Given the description of an element on the screen output the (x, y) to click on. 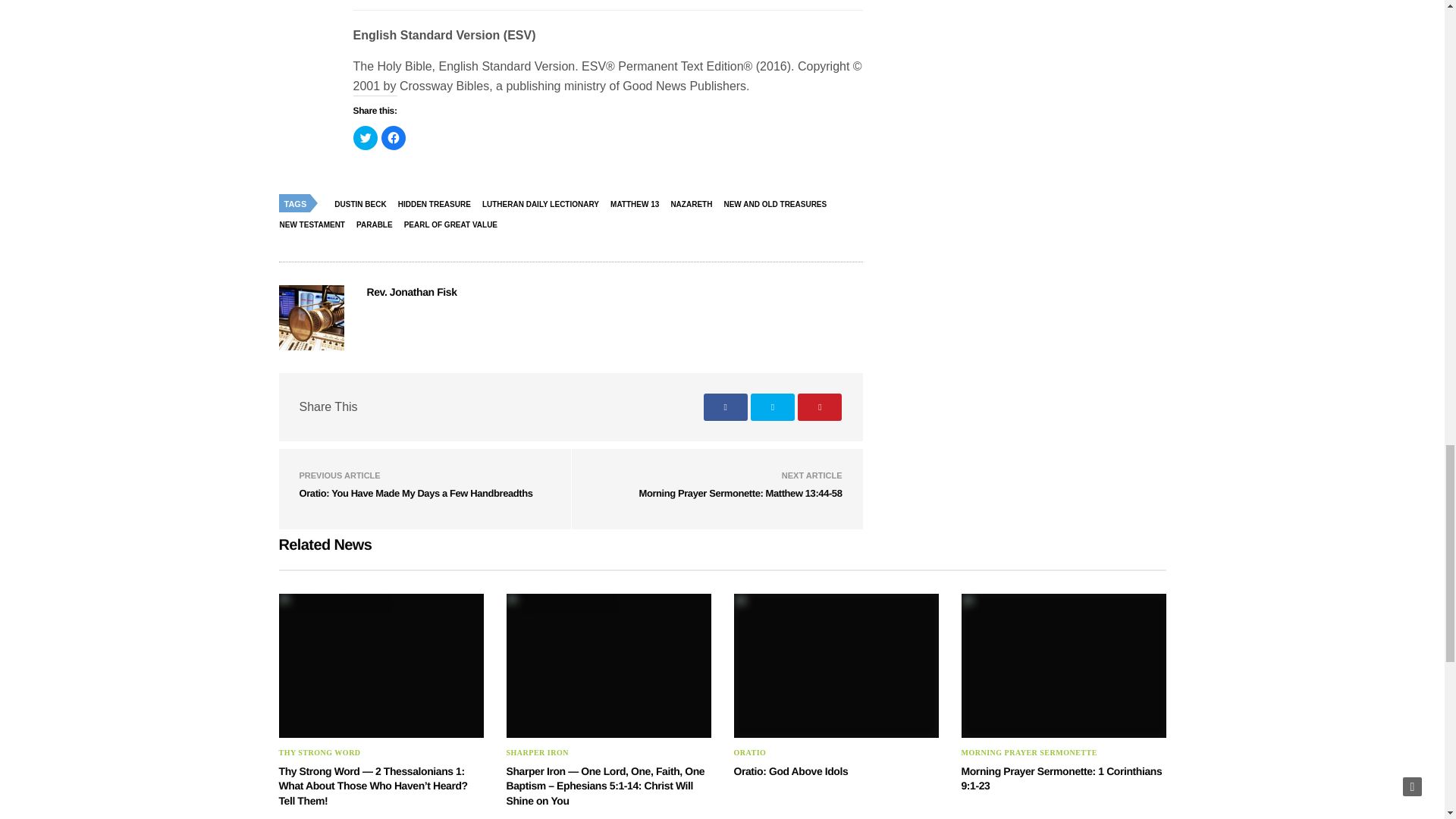
Click to share on Twitter (365, 137)
Oratio: You Have Made My Days a Few Handbreadths (415, 492)
Morning Prayer Sermonette: Matthew 13:44-58 (740, 492)
Click to share on Facebook (392, 137)
